Given the description of an element on the screen output the (x, y) to click on. 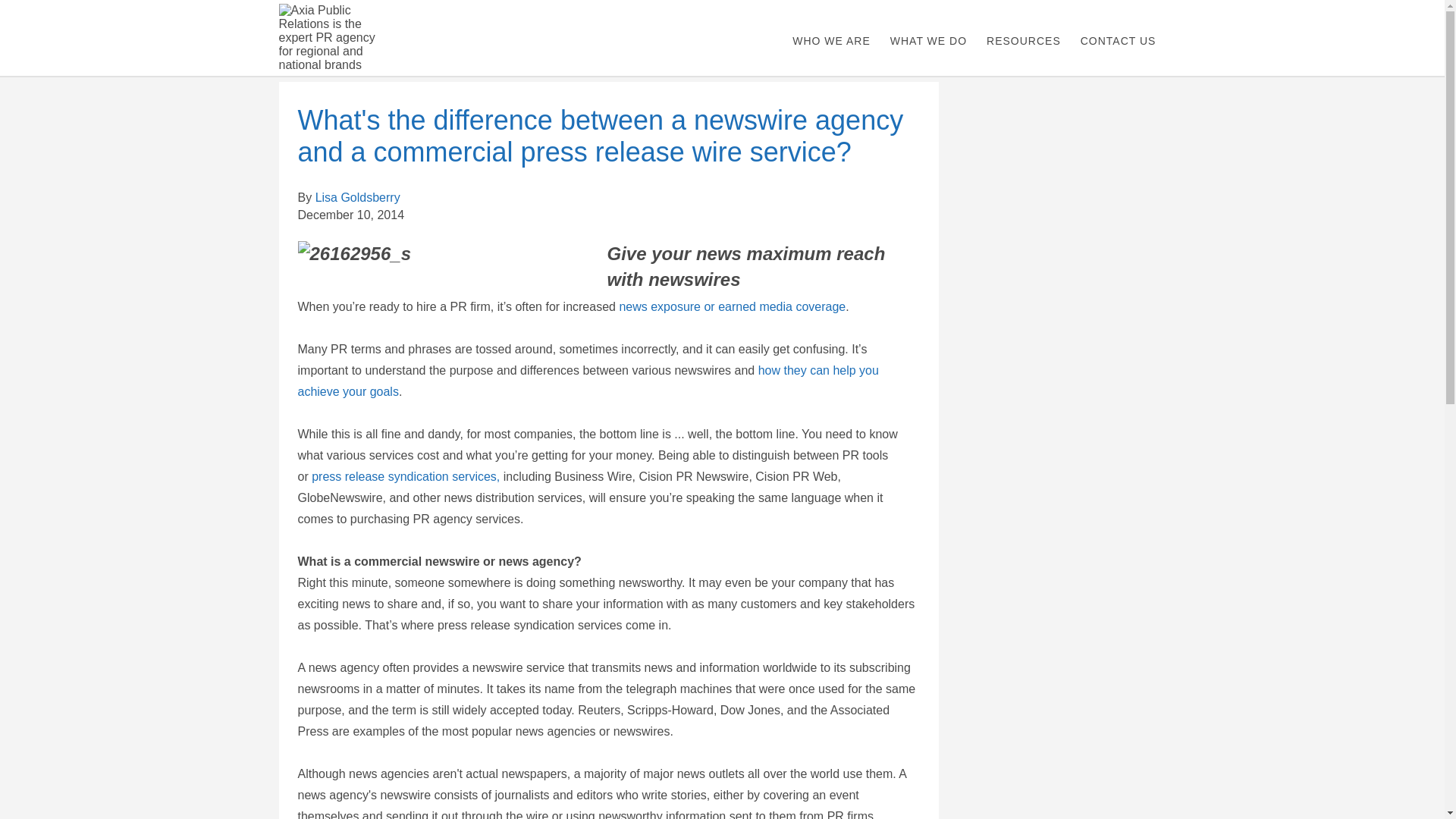
WHO WE ARE (831, 40)
 press release syndication services, (404, 476)
news exposure or earned media coverage (731, 306)
CONTACT US (1118, 40)
how they can help you achieve your goals (587, 380)
RESOURCES (1023, 40)
Lisa Goldsberry (357, 196)
WHAT WE DO (928, 40)
